Given the description of an element on the screen output the (x, y) to click on. 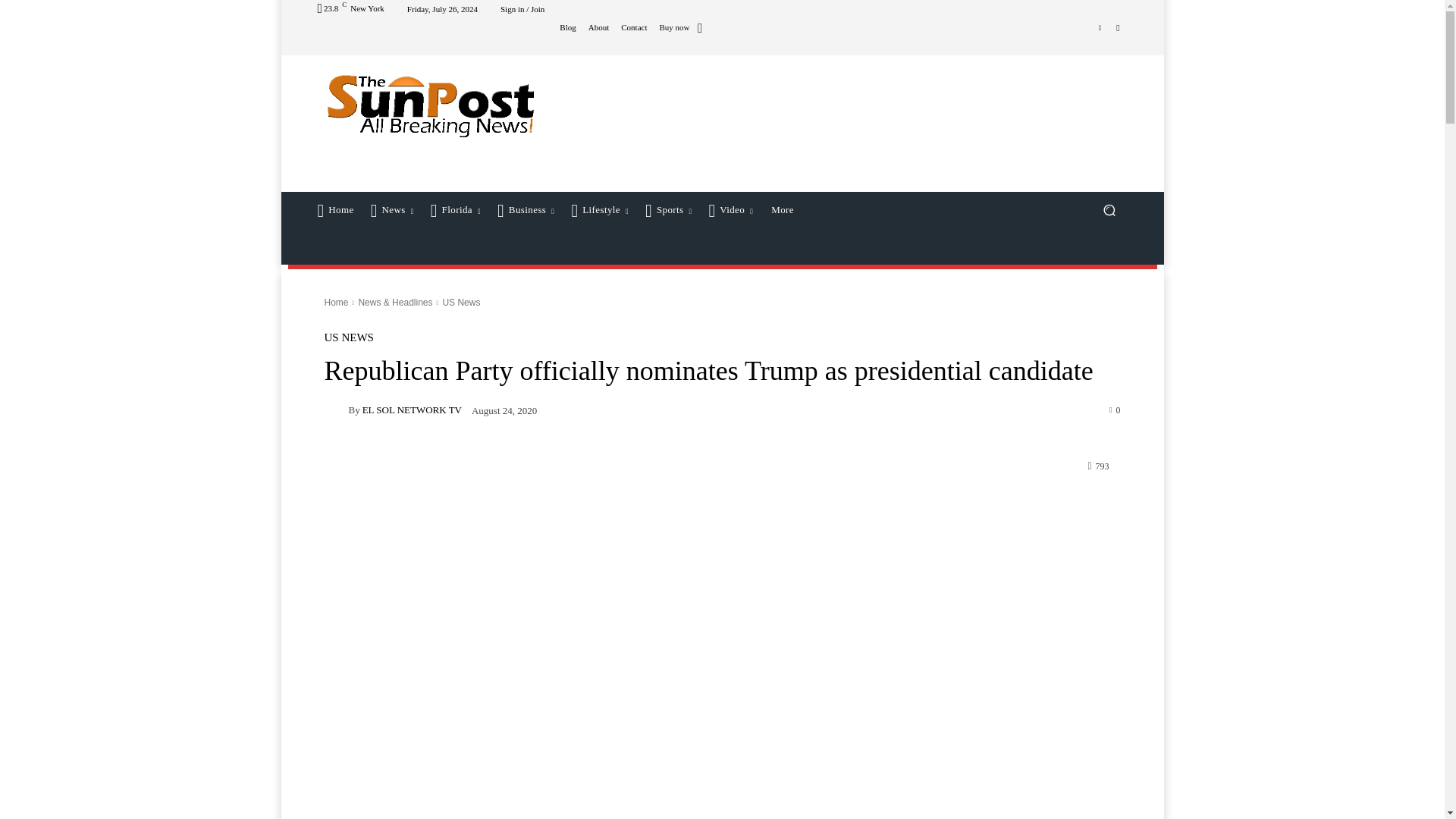
Vimeo (1099, 27)
Youtube (1117, 27)
Contact (633, 27)
Blog (567, 27)
About (599, 27)
